Given the description of an element on the screen output the (x, y) to click on. 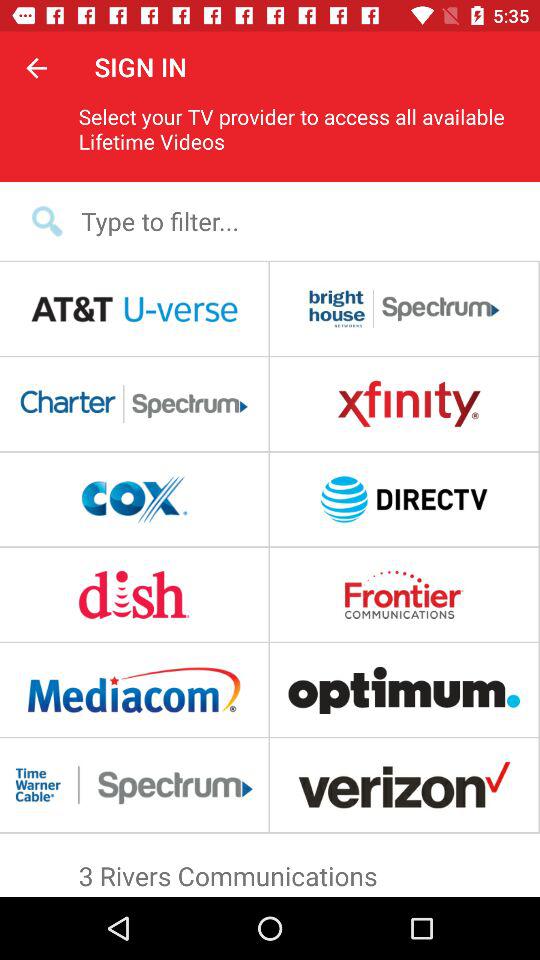
launch item next to select your tv (36, 67)
